Given the description of an element on the screen output the (x, y) to click on. 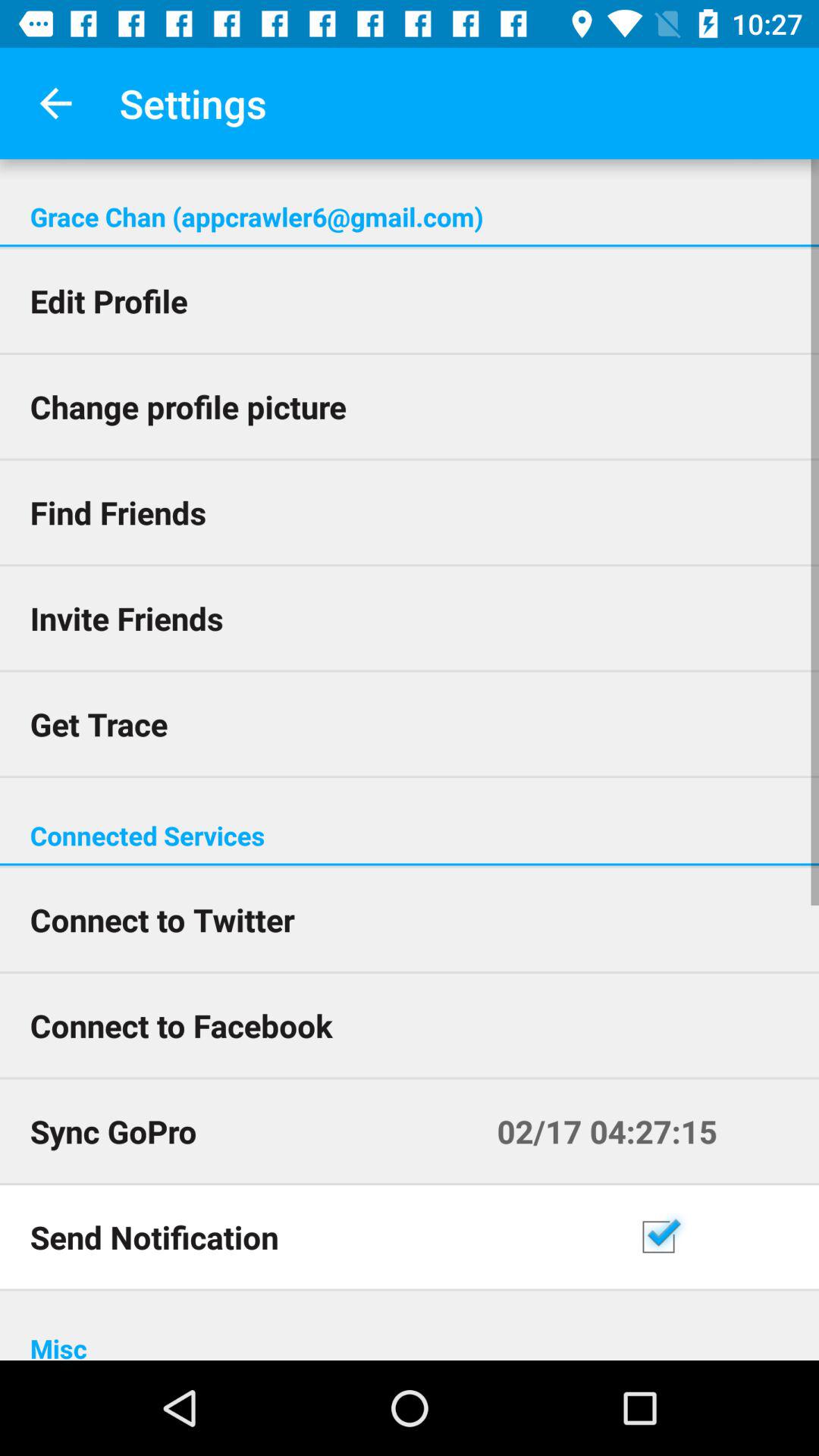
select sync gopro at the bottom left corner (248, 1130)
